Given the description of an element on the screen output the (x, y) to click on. 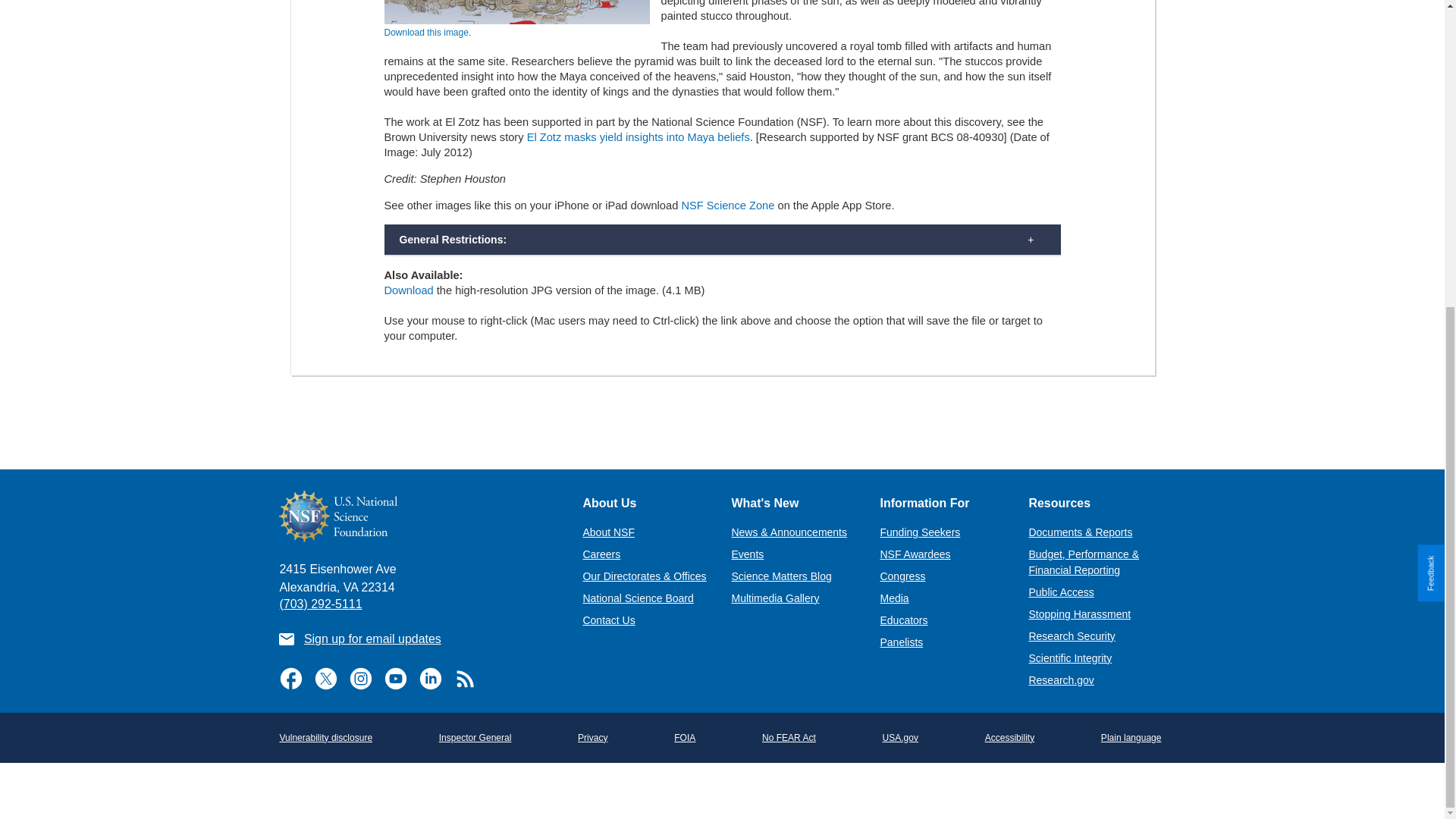
Careers (601, 553)
Contact Us (608, 620)
El Zotz masks yield insights into Maya beliefs (638, 137)
Sign up for email updates (372, 638)
National Science Board (637, 598)
Download (408, 290)
Download this image. (427, 32)
NSF Science Zone (727, 205)
NSF - National Science Foundation - Home (418, 515)
About NSF (607, 532)
